Given the description of an element on the screen output the (x, y) to click on. 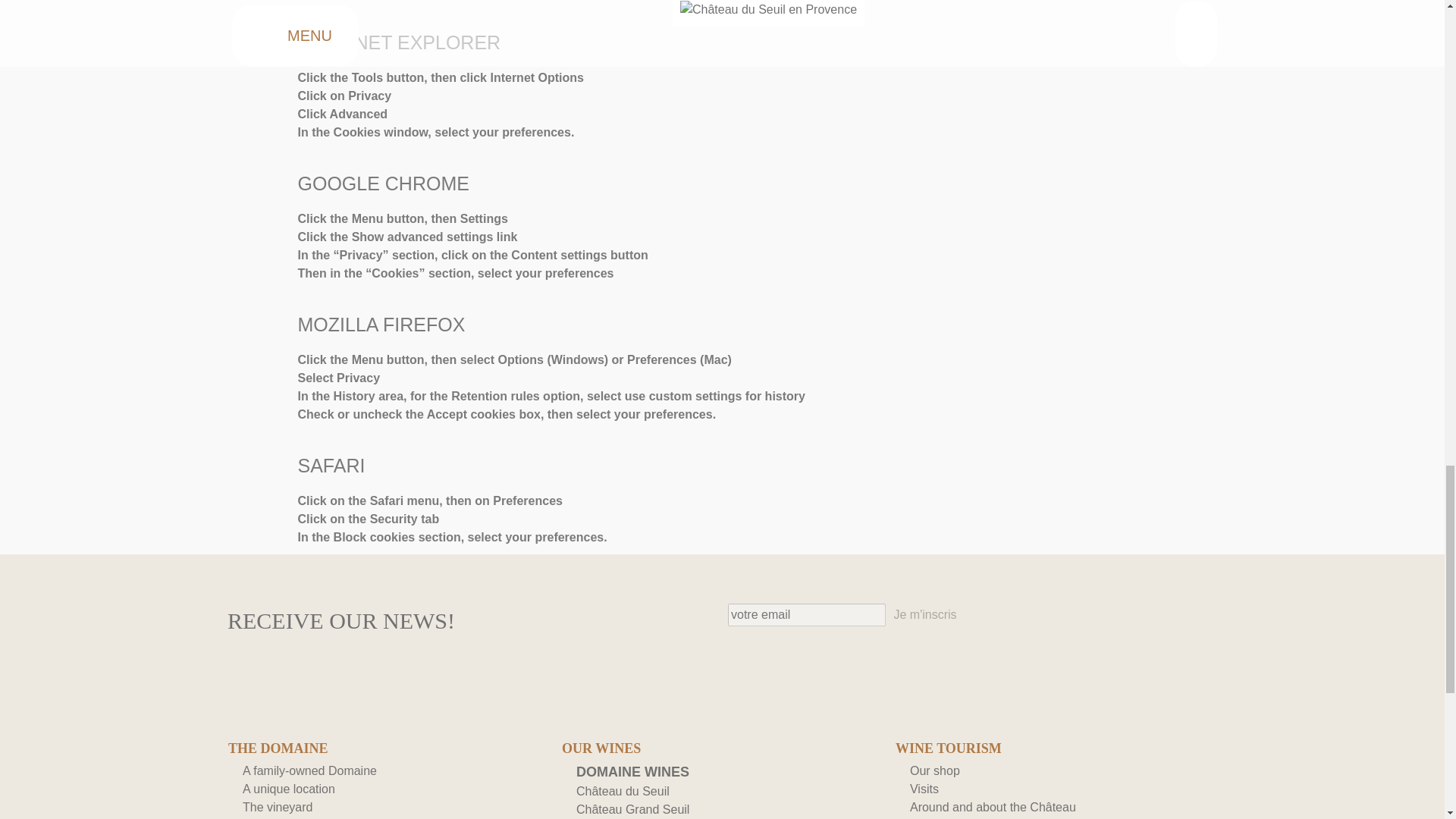
Je m'inscris (924, 614)
DOMAINE WINES (632, 771)
The vineyard (278, 807)
THE DOMAINE (388, 749)
OUR WINES (722, 749)
A unique location (288, 788)
A family-owned Domaine (310, 770)
